Given the description of an element on the screen output the (x, y) to click on. 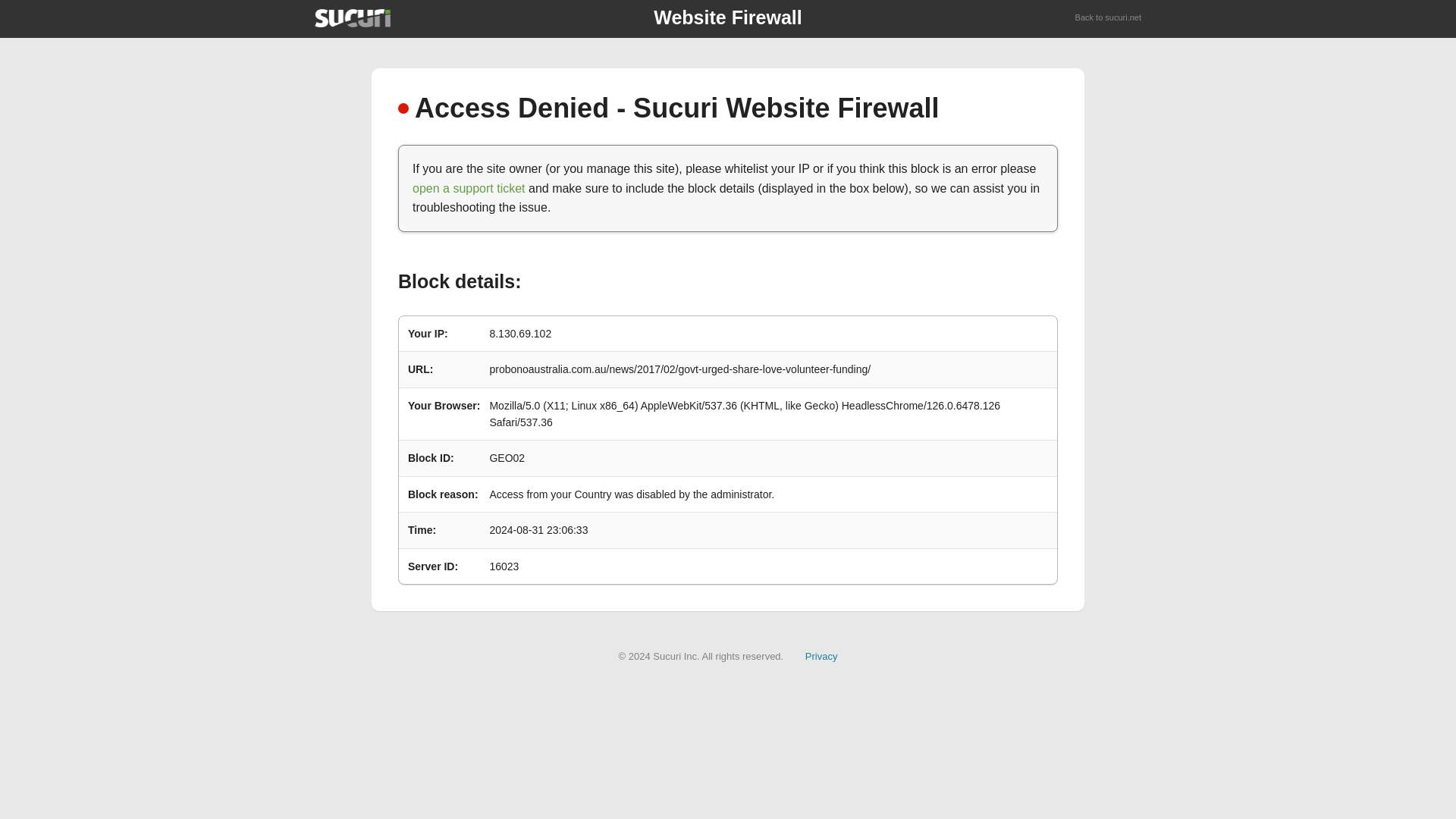
open a support ticket (468, 187)
Privacy (821, 655)
Back to sucuri.net (1108, 18)
